Given the description of an element on the screen output the (x, y) to click on. 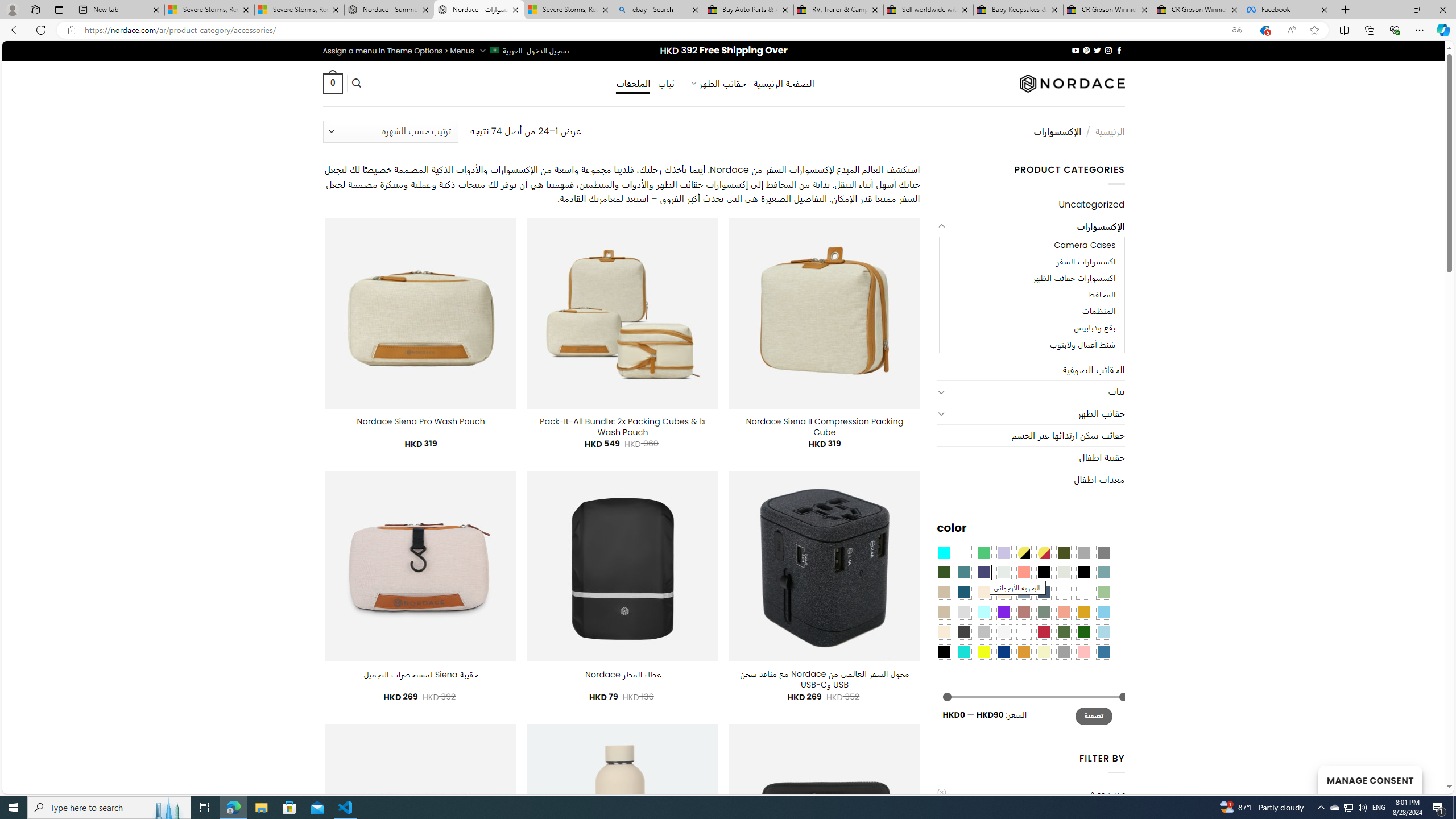
Assign a menu in Theme Options > Menus (397, 50)
Ash Gray (1063, 572)
Blue Sage (1103, 572)
Nordace Siena II Compression Packing Cube (824, 427)
 0  (332, 83)
